Given the description of an element on the screen output the (x, y) to click on. 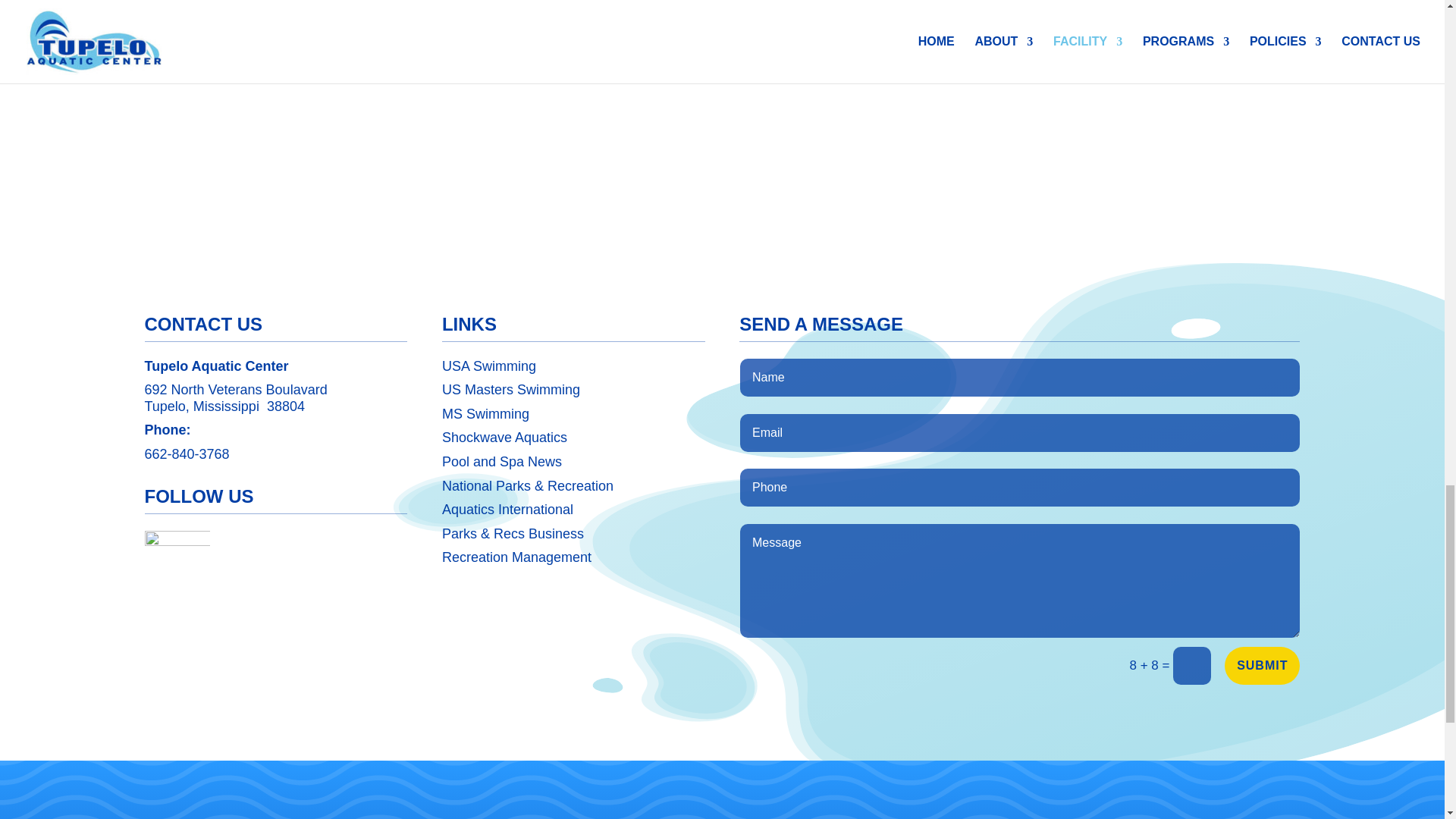
US Masters Swimming (510, 389)
Shockwave Aquatics (504, 437)
Aquatics International (507, 509)
Pool and Spa News (502, 461)
followicon (176, 563)
662-840-3768 (186, 453)
USA Swimming (488, 365)
MS Swimming (485, 413)
